Given the description of an element on the screen output the (x, y) to click on. 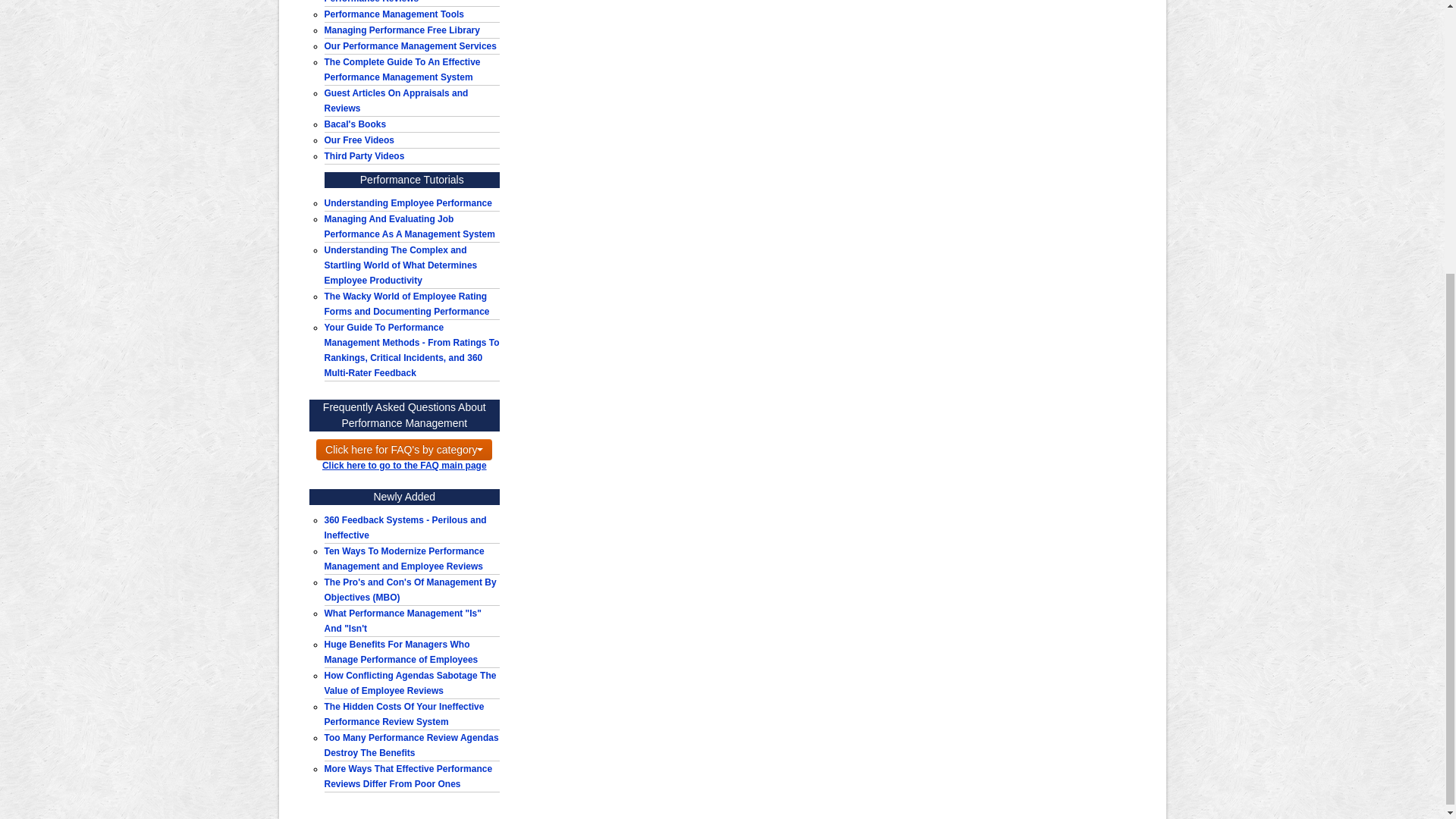
Bacal's Books (355, 123)
Frequently Asked Questions About Performance Reviews (400, 2)
Managing Performance Free Library (402, 30)
Read about how we can help - consulting, seminars, tools (410, 45)
Performance management is far more than just reviews (402, 620)
Click here for FAQ's by category (403, 449)
Hundreds of questons answered about workplace productivity (400, 2)
MBO works but needs to be modernized (410, 589)
Third Party Videos (364, 155)
